Given the description of an element on the screen output the (x, y) to click on. 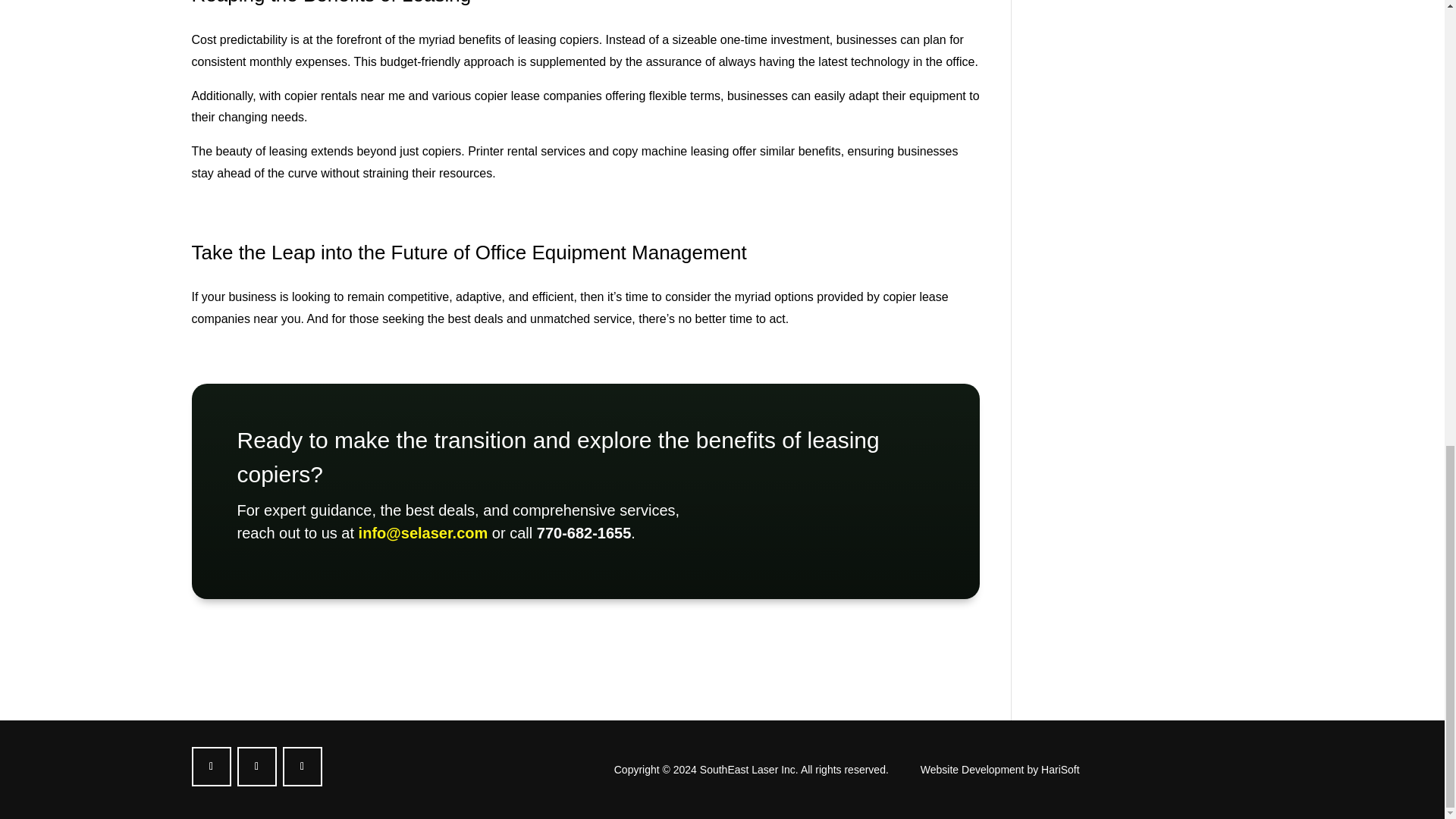
Follow on Facebook (210, 766)
Follow on X (255, 766)
Website Development (972, 769)
Office Equipment Management (611, 251)
Follow on LinkedIn (301, 766)
